Given the description of an element on the screen output the (x, y) to click on. 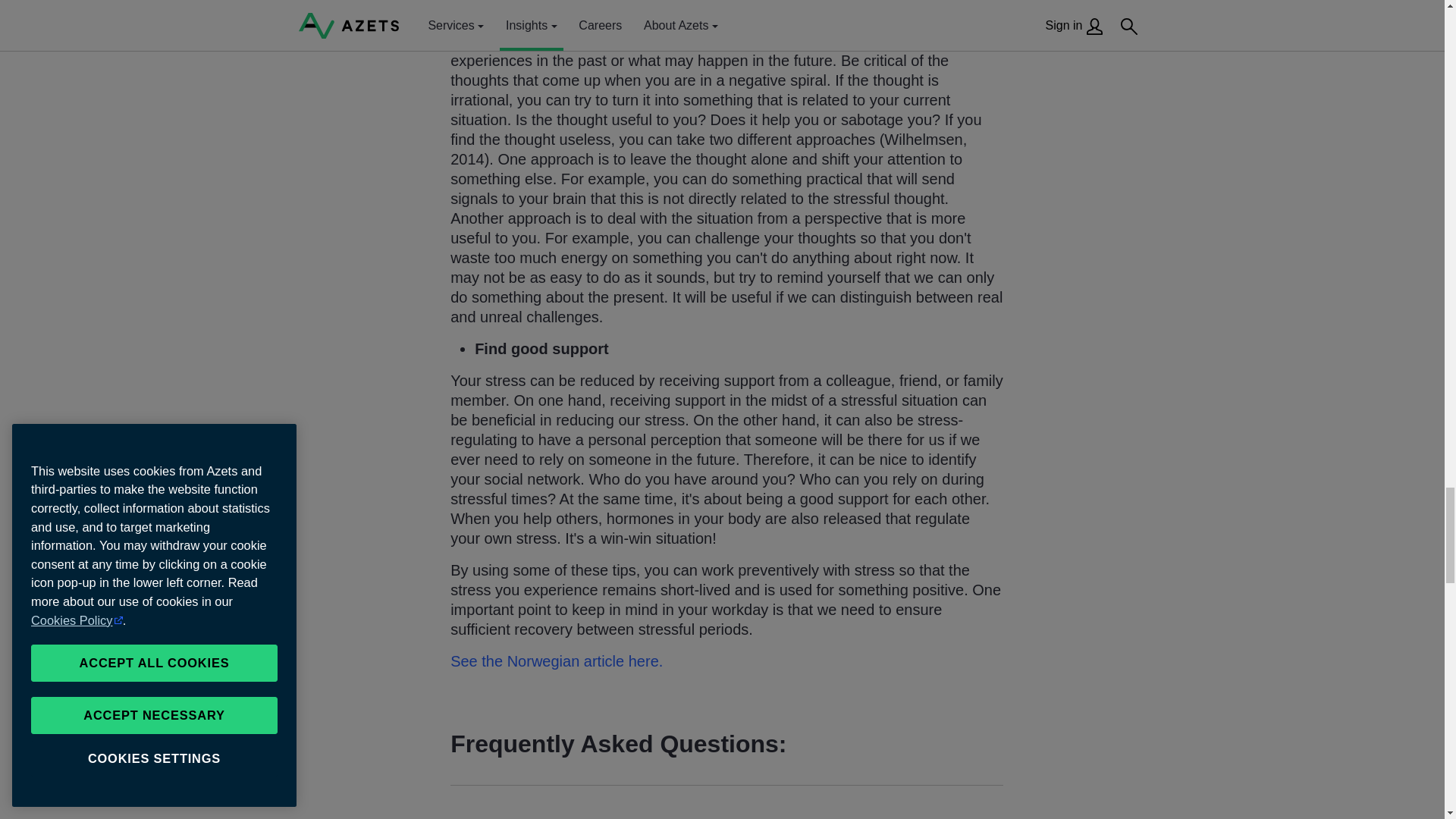
See the Norwegian article here. (555, 660)
